Given the description of an element on the screen output the (x, y) to click on. 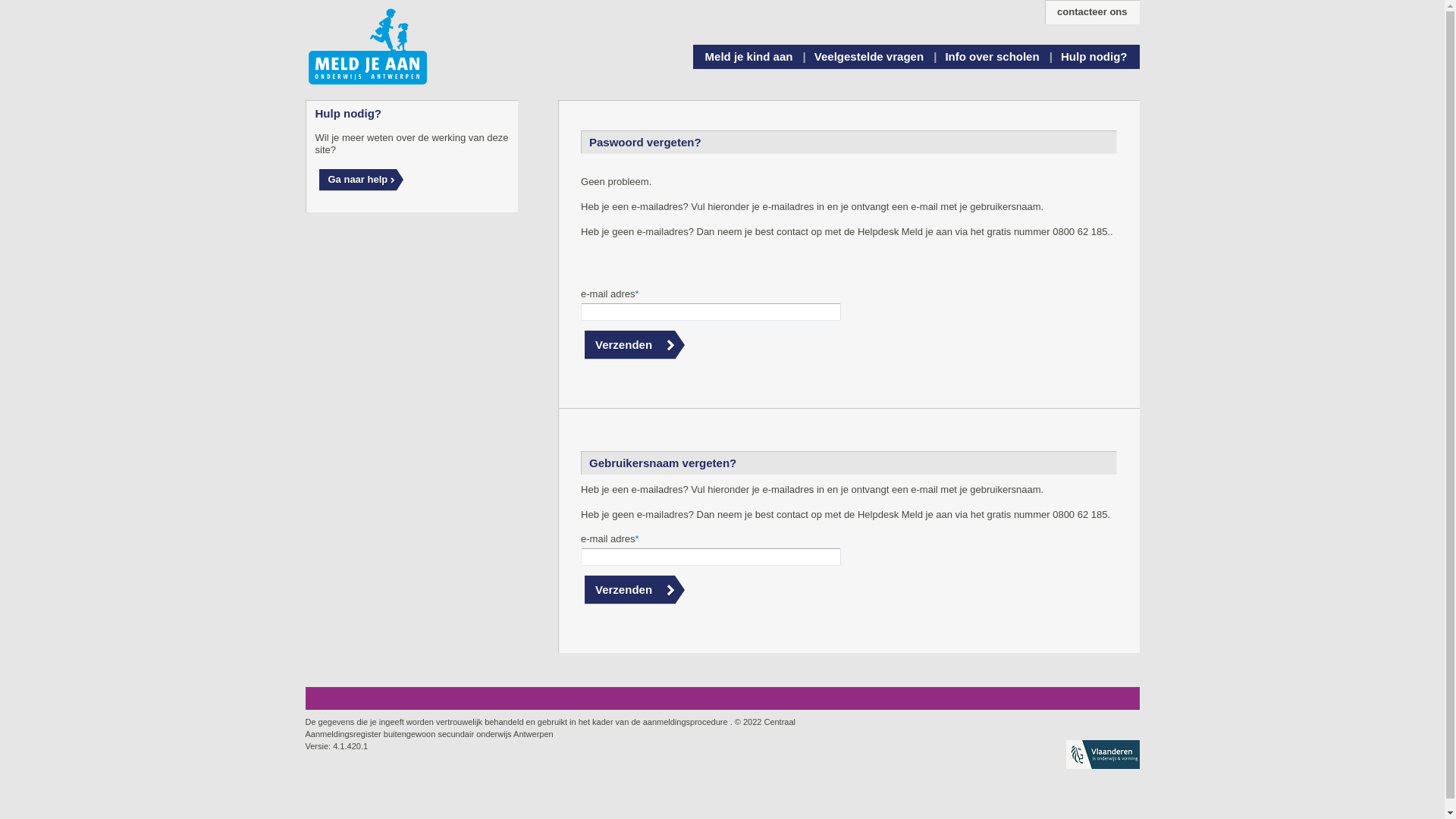
meld je aan Antwerpen Element type: hover (366, 46)
Verzenden Element type: text (629, 589)
Veelgestelde vragen Element type: text (868, 56)
Info over scholen Element type: text (991, 56)
contacteer ons Element type: text (1091, 11)
Verzenden Element type: text (629, 344)
Ga naar help Element type: text (357, 179)
Hulp nodig? Element type: text (1093, 56)
Meld je kind aan Element type: text (749, 56)
